Given the description of an element on the screen output the (x, y) to click on. 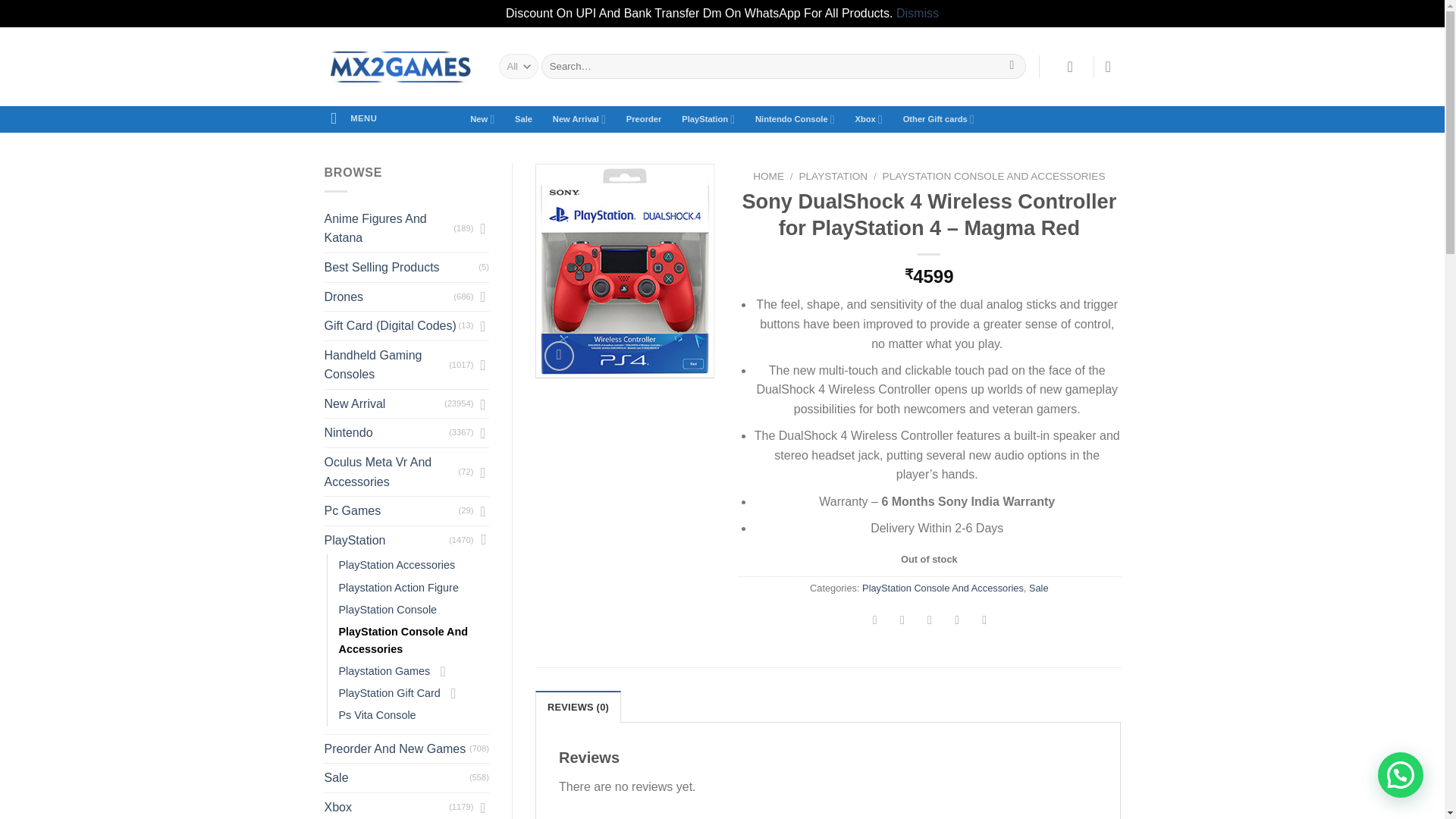
Dismiss (917, 12)
MENU (354, 118)
New Arrival (578, 118)
Sale (523, 118)
New (482, 118)
Search (1011, 66)
Mx2Games (400, 66)
